Given the description of an element on the screen output the (x, y) to click on. 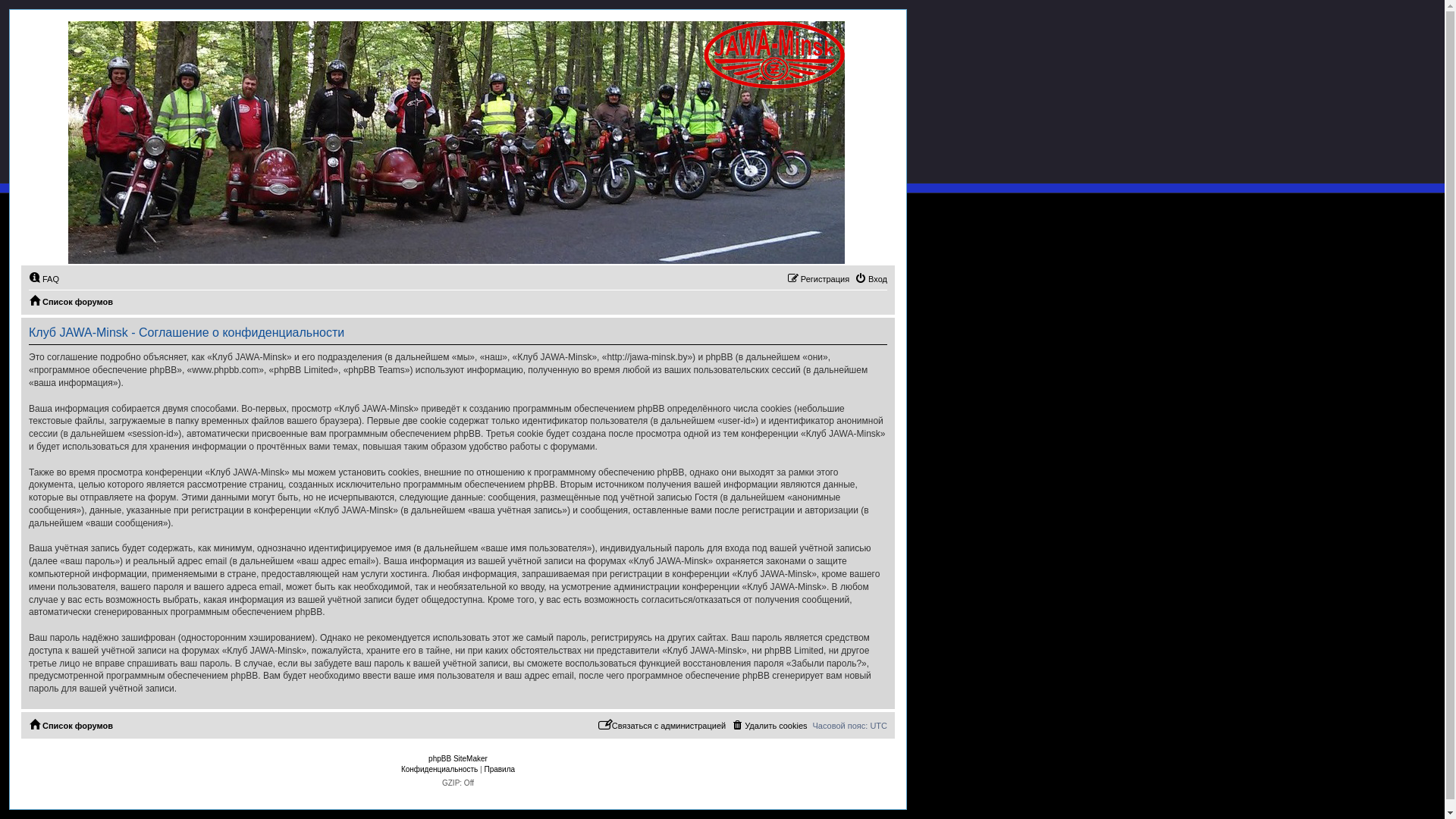
phpBB SiteMaker Element type: text (457, 758)
FAQ Element type: text (43, 278)
